Given the description of an element on the screen output the (x, y) to click on. 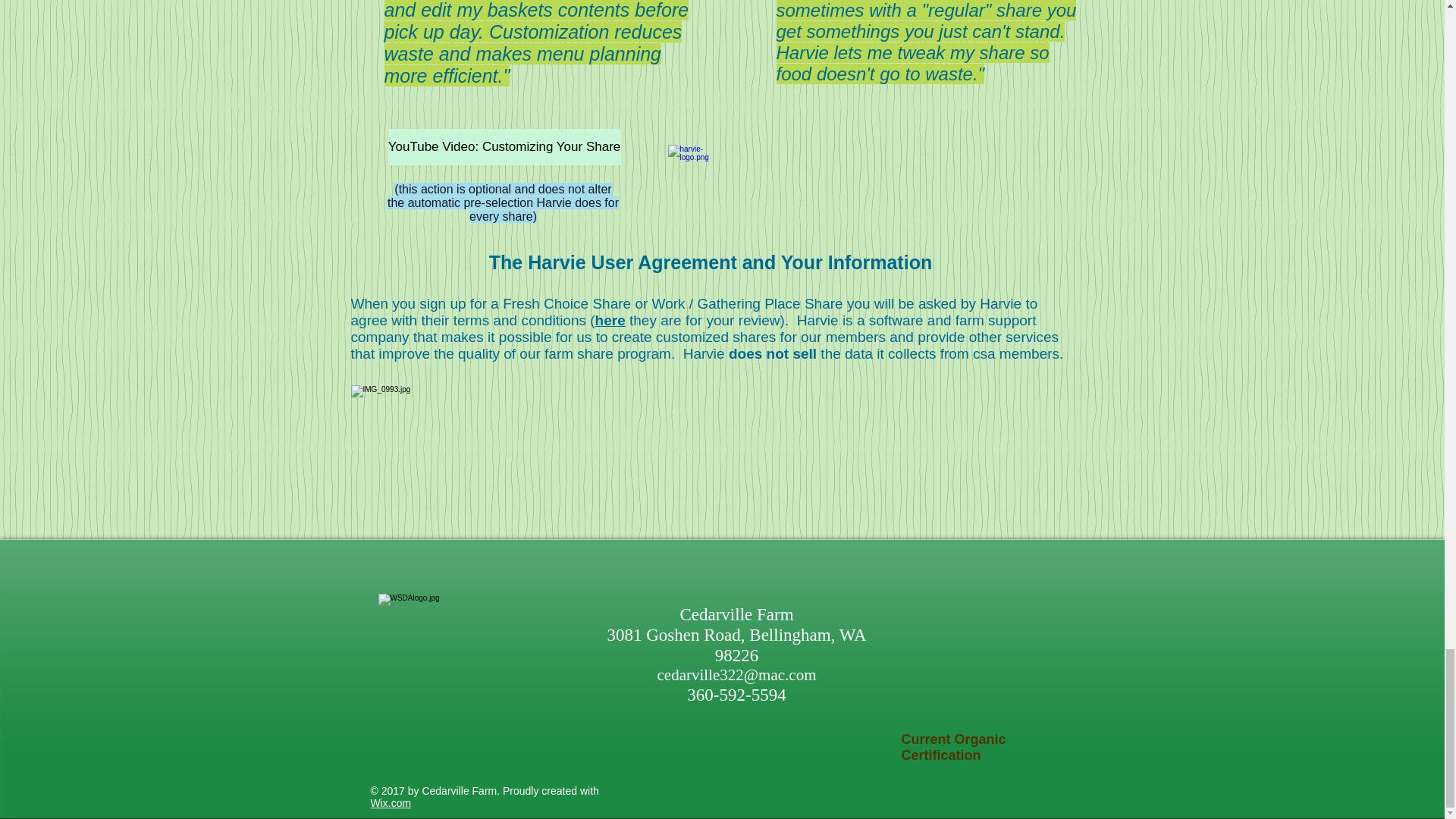
YouTube Video: Customizing Your Share (504, 146)
here (610, 320)
PDF File Viewer (1004, 699)
Wix.com (389, 802)
